Given the description of an element on the screen output the (x, y) to click on. 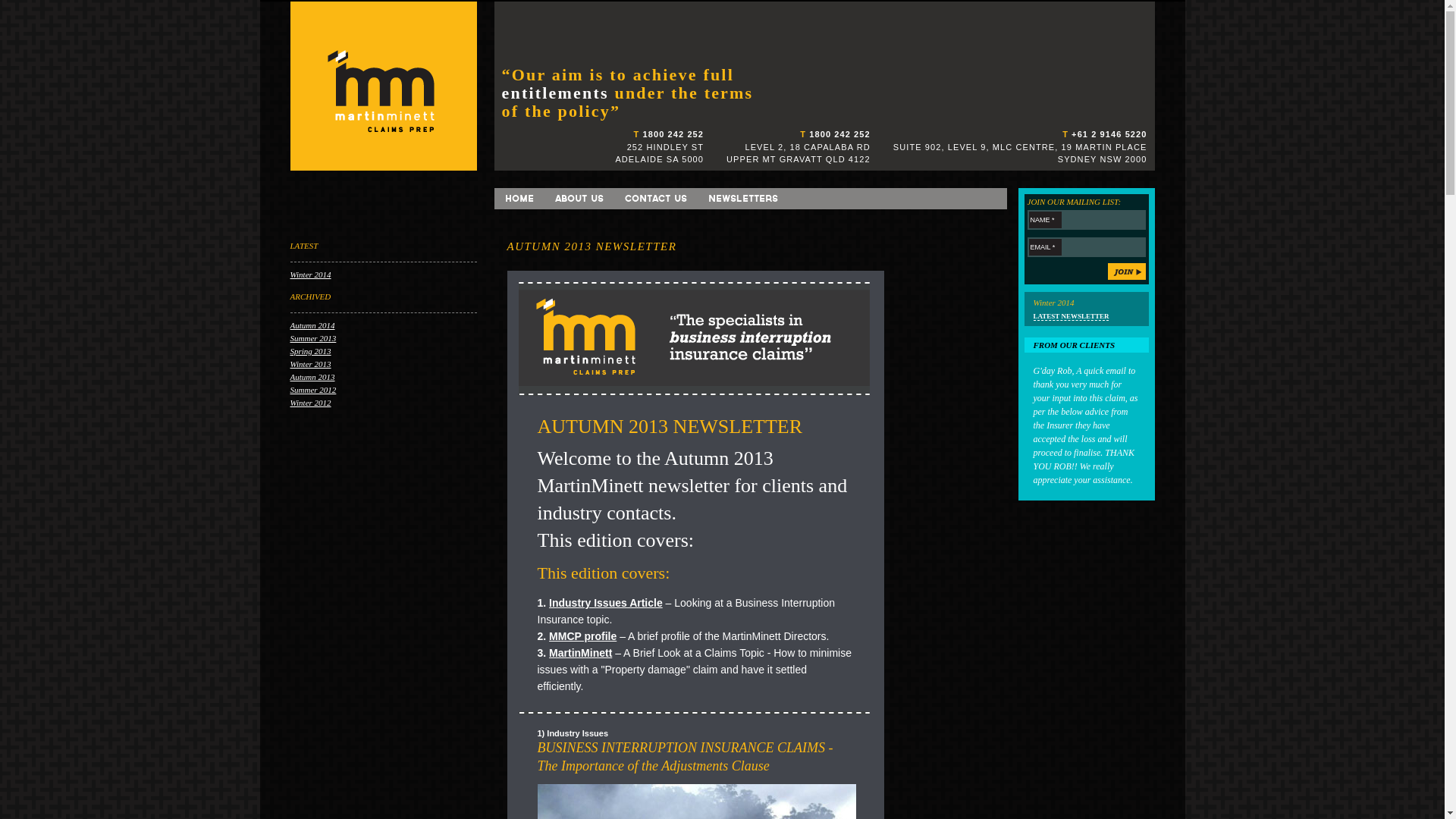
Newsletters Element type: text (742, 198)
Spring 2013 Element type: text (309, 350)
Autumn 2013 Element type: text (311, 376)
Autumn 2014 Element type: text (311, 324)
About Us Element type: text (579, 198)
Summer 2013 Element type: text (312, 337)
Winter 2013 Element type: text (309, 363)
1) Industry Issues Element type: text (572, 732)
Winter 2014 Element type: text (309, 274)
Home Element type: text (519, 198)
Summer 2012 Element type: text (312, 389)
MartinMinett Element type: text (580, 652)
Winter 2012 Element type: text (309, 402)
LATEST NEWSLETTER Element type: text (1070, 316)
Contact Us Element type: text (655, 198)
Industry Issues Article Element type: text (605, 602)
MMCP profile Element type: text (582, 636)
